Given the description of an element on the screen output the (x, y) to click on. 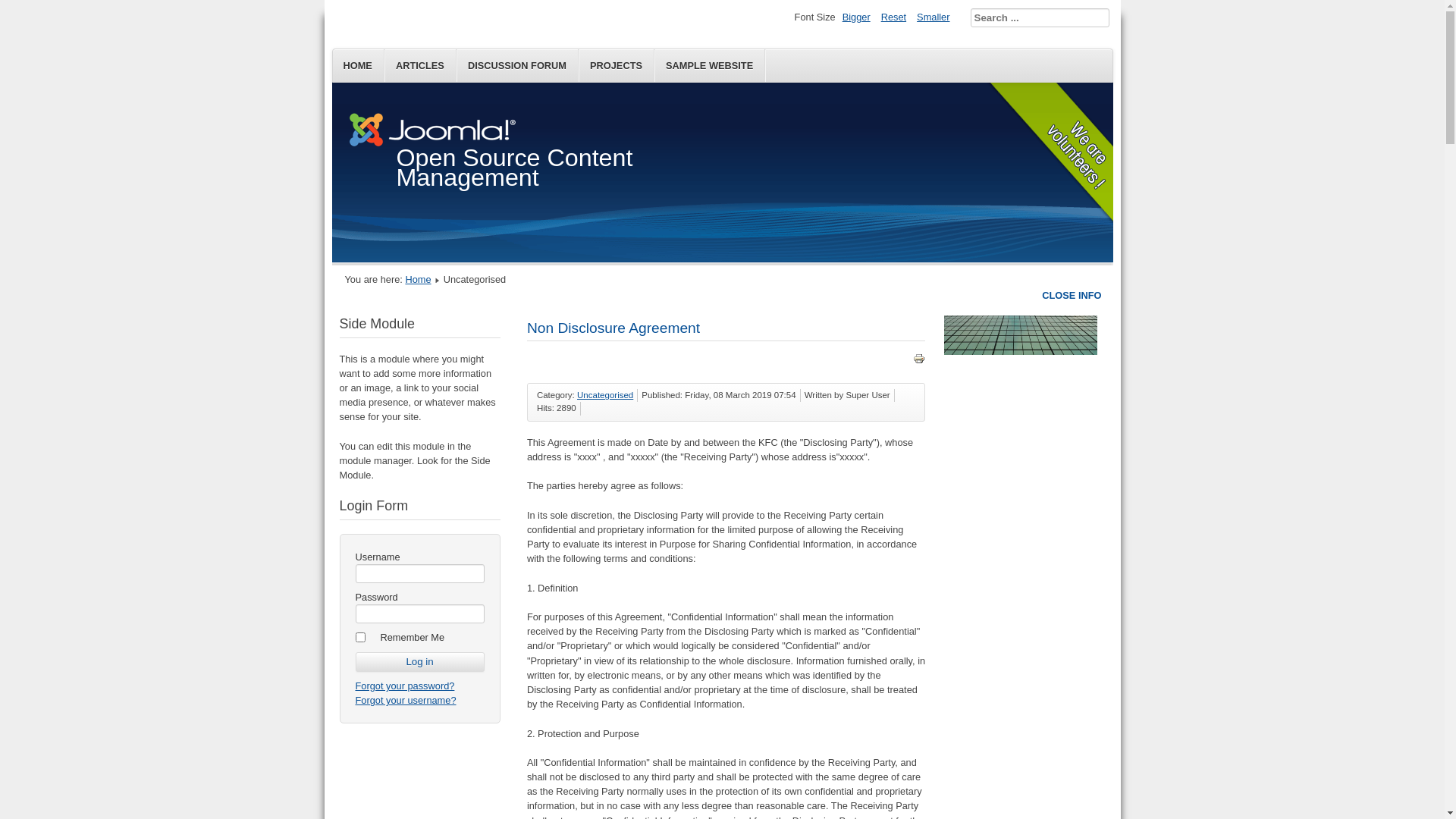
Non Disclosure Agreement Element type: text (613, 327)
DISCUSSION FORUM Element type: text (517, 65)
Bigger Element type: text (856, 16)
Forgot your username? Element type: text (404, 700)
Forgot your password? Element type: text (404, 685)
Reset Element type: text (893, 16)
Uncategorised Element type: text (605, 394)
SAMPLE WEBSITE Element type: text (709, 65)
Print article < Non Disclosure Agreement > Element type: hover (919, 361)
Smaller Element type: text (933, 16)
PROJECTS Element type: text (616, 65)
HOME Element type: text (358, 65)
ARTICLES Element type: text (420, 65)
Home Element type: text (417, 279)
Log in Element type: text (418, 661)
